Given the description of an element on the screen output the (x, y) to click on. 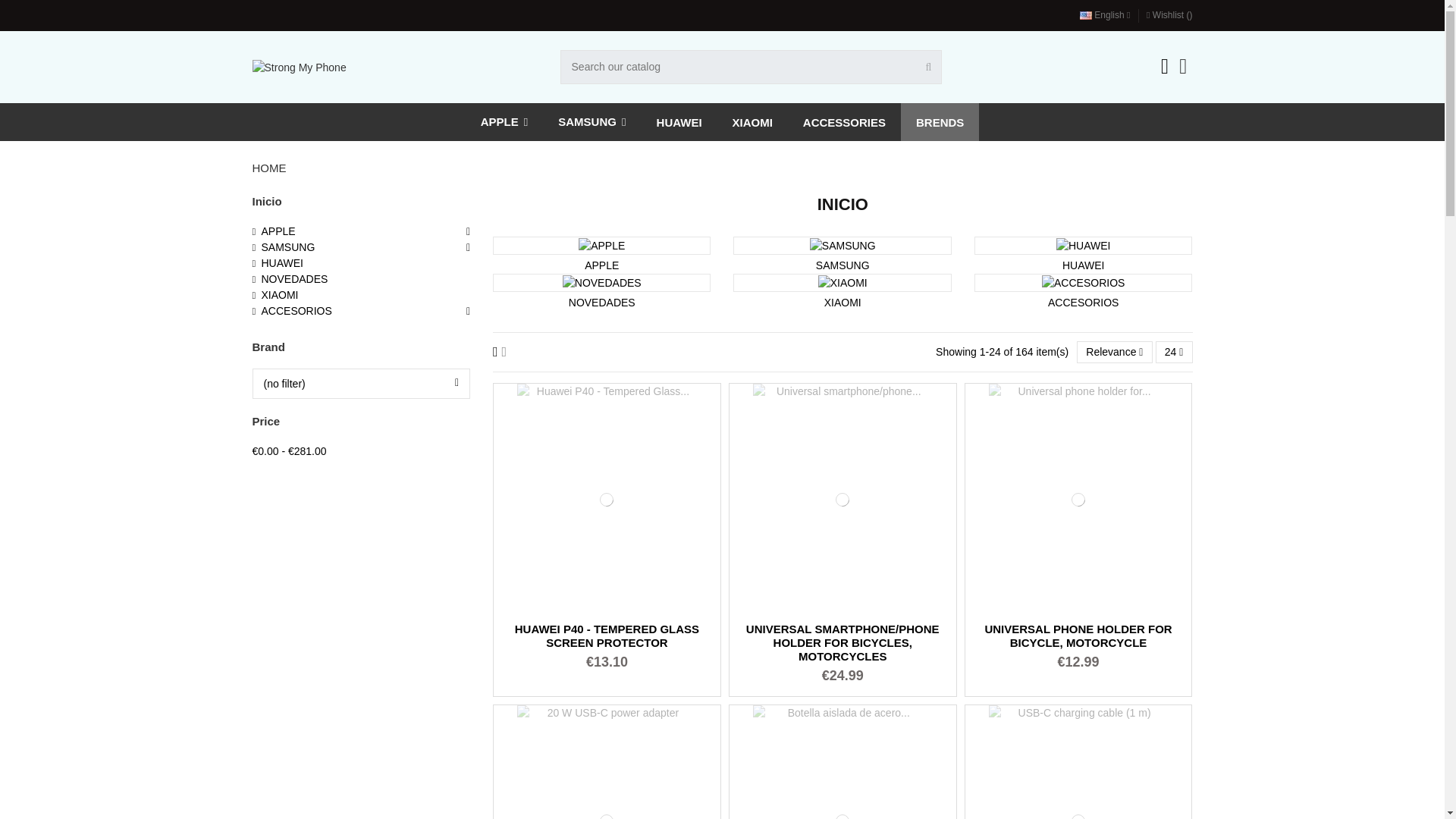
SAMSUNG (591, 121)
HUAWEI (679, 121)
English (1104, 14)
APPLE (504, 121)
